Given the description of an element on the screen output the (x, y) to click on. 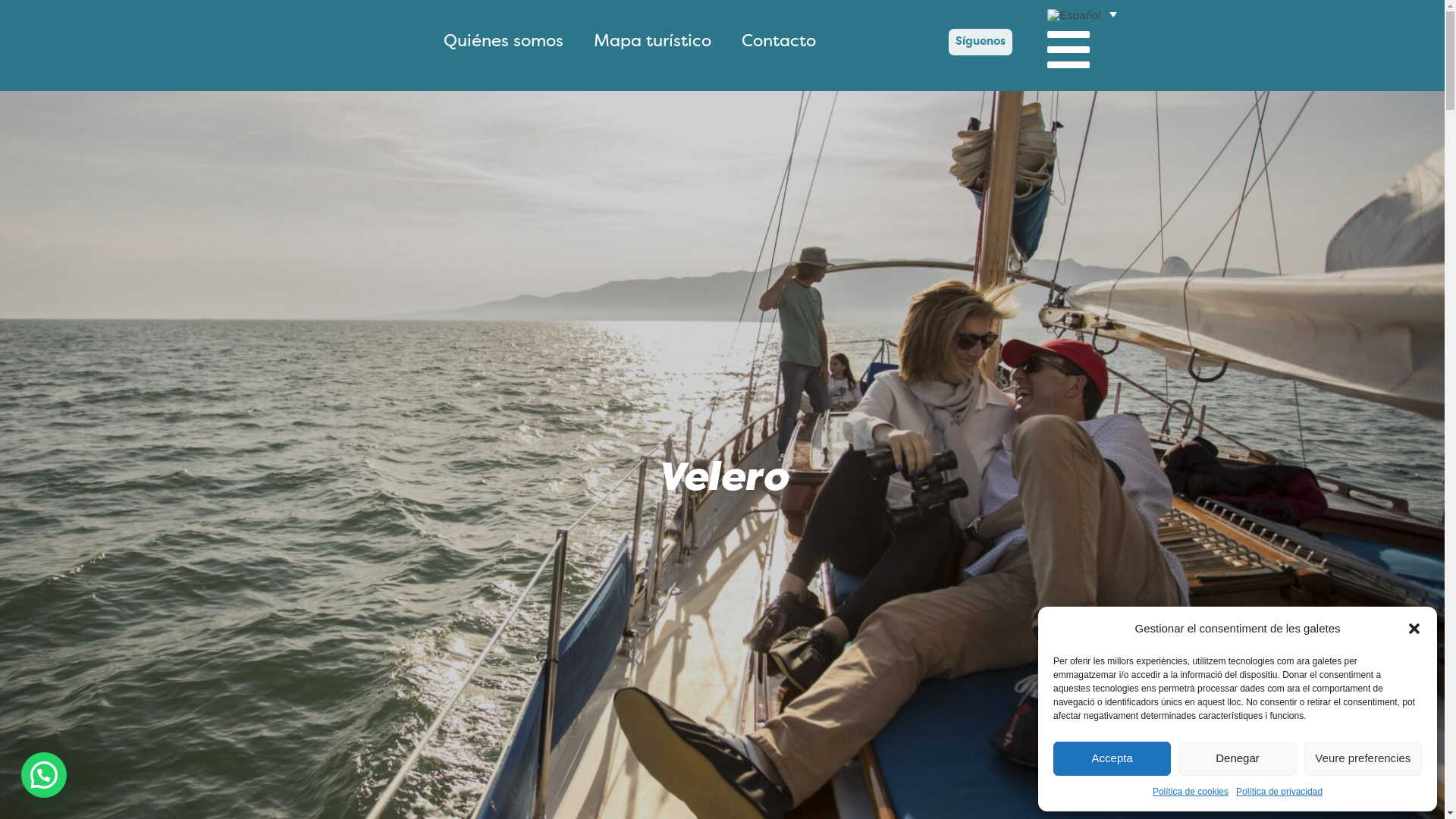
Contacto Element type: text (778, 41)
Denegar Element type: text (1236, 758)
Veure preferencies Element type: text (1362, 758)
Accepta Element type: text (1111, 758)
